Given the description of an element on the screen output the (x, y) to click on. 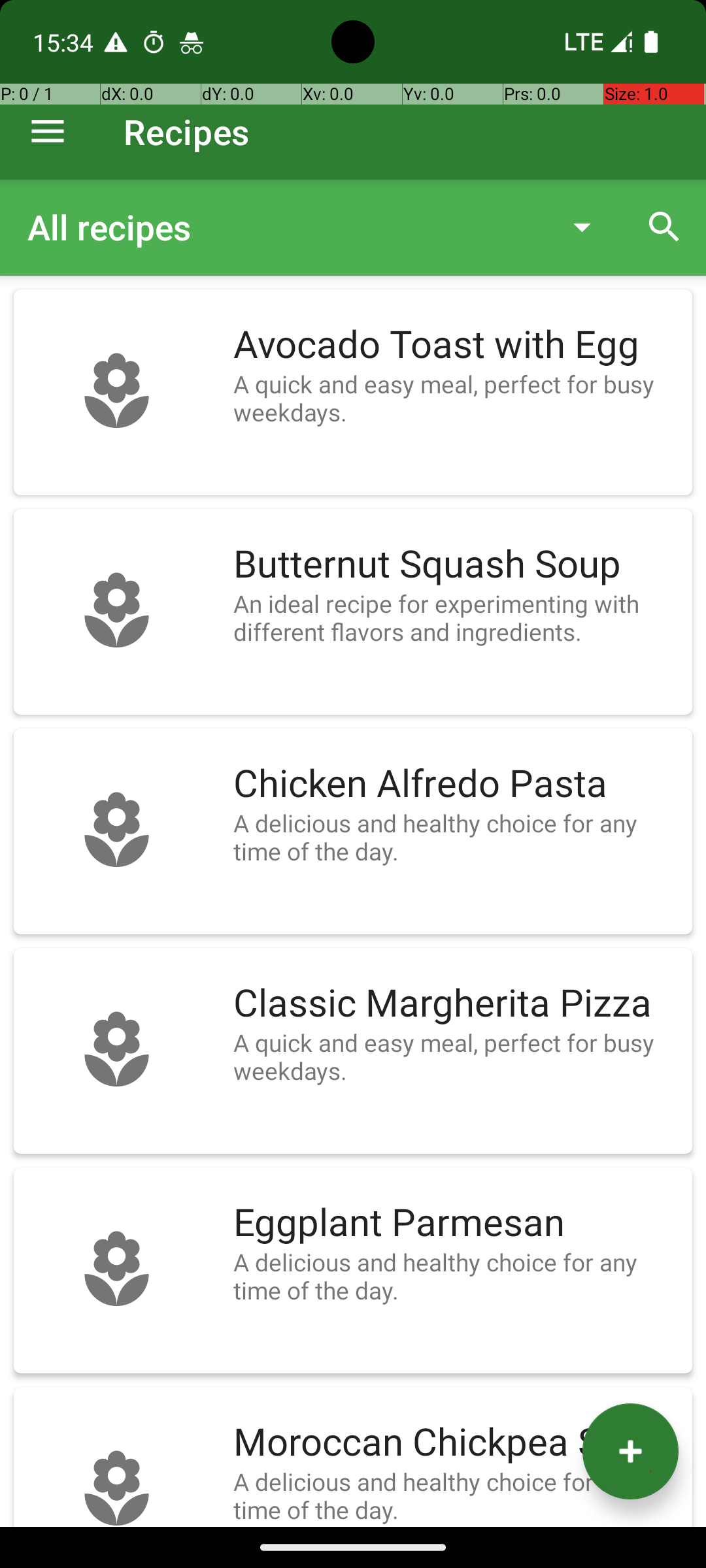
Classic Margherita Pizza Element type: android.widget.TextView (455, 1003)
Eggplant Parmesan Element type: android.widget.TextView (455, 1222)
Moroccan Chickpea Stew Element type: android.widget.TextView (455, 1442)
